Given the description of an element on the screen output the (x, y) to click on. 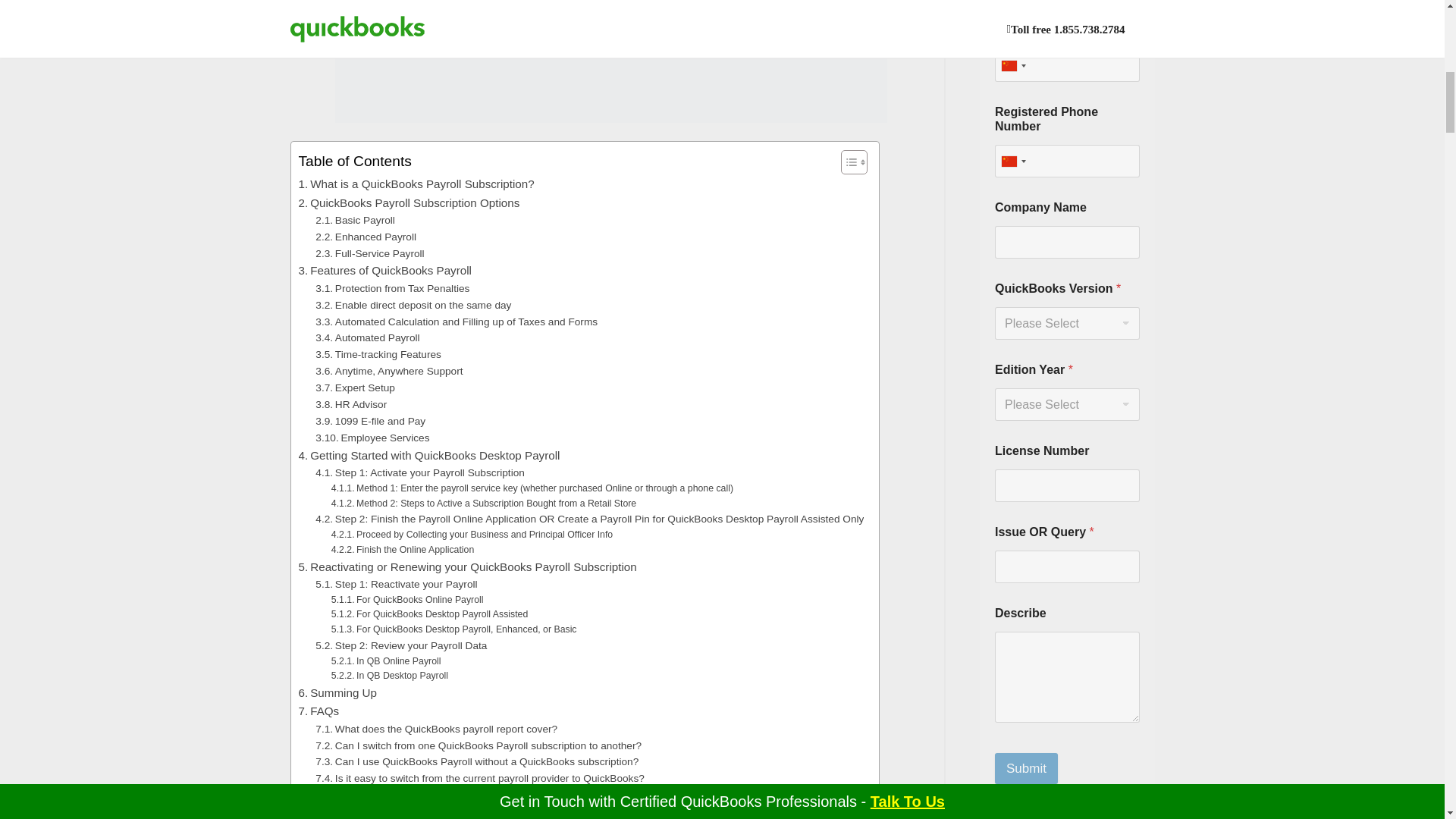
Automated Payroll (367, 338)
Features of QuickBooks Payroll (384, 270)
Enhanced Payroll (365, 237)
Full-Service Payroll (369, 253)
What is a QuickBooks Payroll Subscription? (416, 184)
Features of QuickBooks Payroll (384, 270)
Step 1: Reactivate your Payroll (396, 584)
Time-tracking Features (378, 354)
Basic Payroll (354, 220)
